Given the description of an element on the screen output the (x, y) to click on. 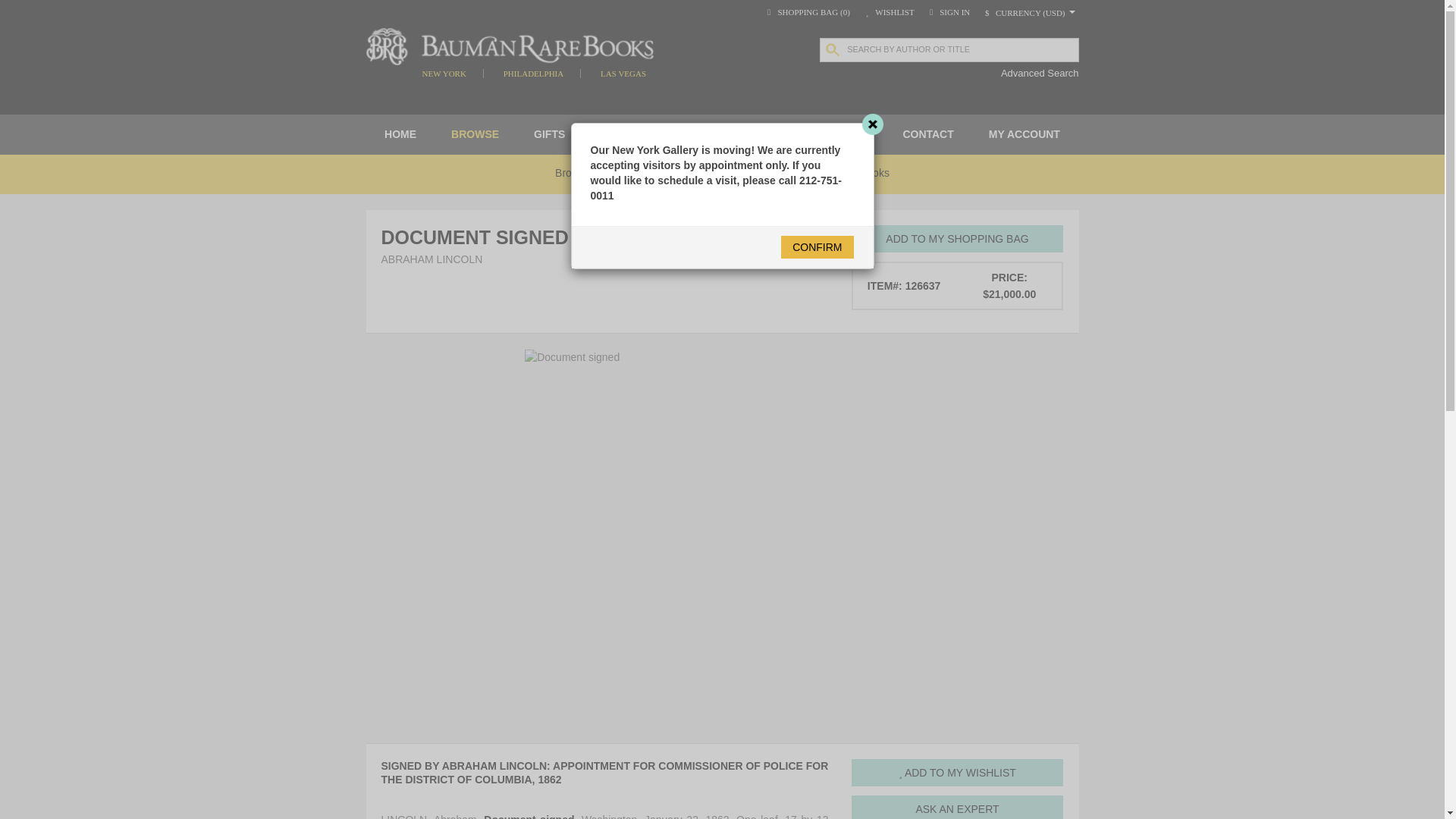
LAS VEGAS (622, 72)
SIGN IN (947, 11)
Featured Books (705, 174)
PHILADELPHIA (533, 72)
Advanced Search (1039, 72)
Browse All Topics (595, 174)
BROWSE (474, 134)
HOME (399, 134)
SEARCH BY AUTHOR OR TITLE (948, 49)
Quick Search (33, 9)
